Given the description of an element on the screen output the (x, y) to click on. 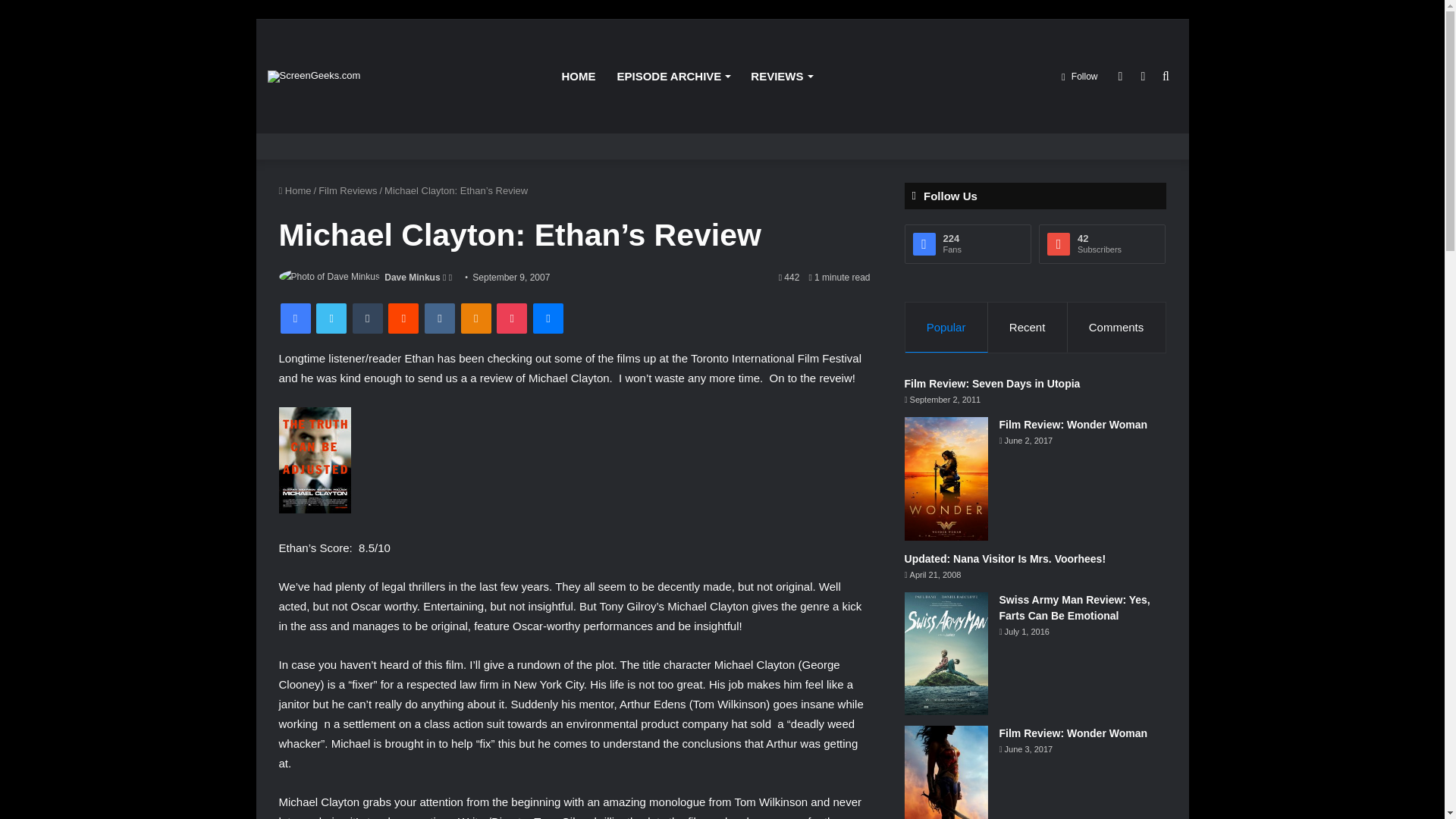
Messenger (547, 318)
Pocket (511, 318)
Tumblr (367, 318)
VKontakte (439, 318)
Twitter (330, 318)
Film Reviews (347, 190)
Dave Minkus (411, 276)
ScreenGeeks.com (312, 76)
Home (295, 190)
Odnoklassniki (476, 318)
EPISODE ARCHIVE (674, 76)
Reddit (403, 318)
Messenger (547, 318)
Reddit (403, 318)
Facebook (296, 318)
